Given the description of an element on the screen output the (x, y) to click on. 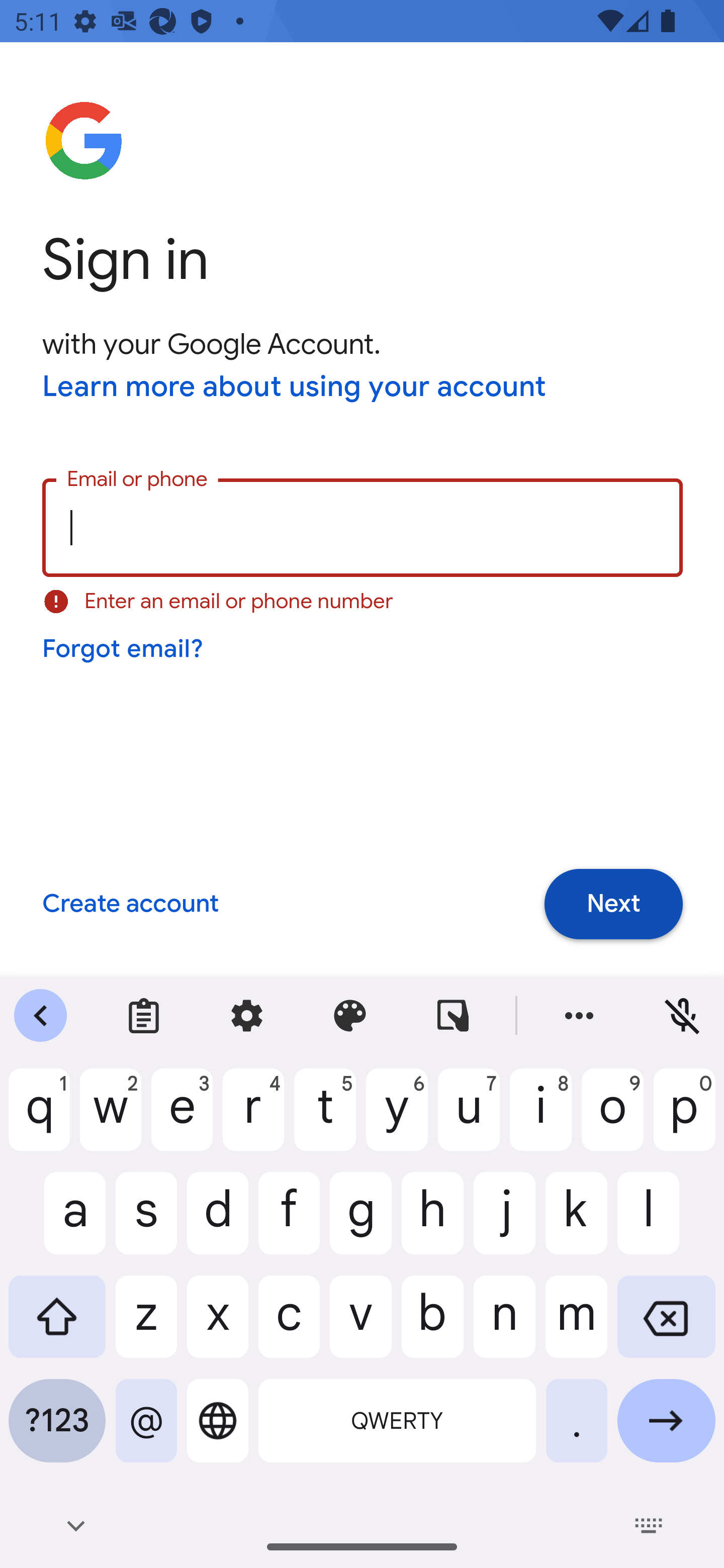
Learn more about using your account (294, 388)
Forgot email? (123, 648)
Create account (129, 904)
Next (613, 904)
